Given the description of an element on the screen output the (x, y) to click on. 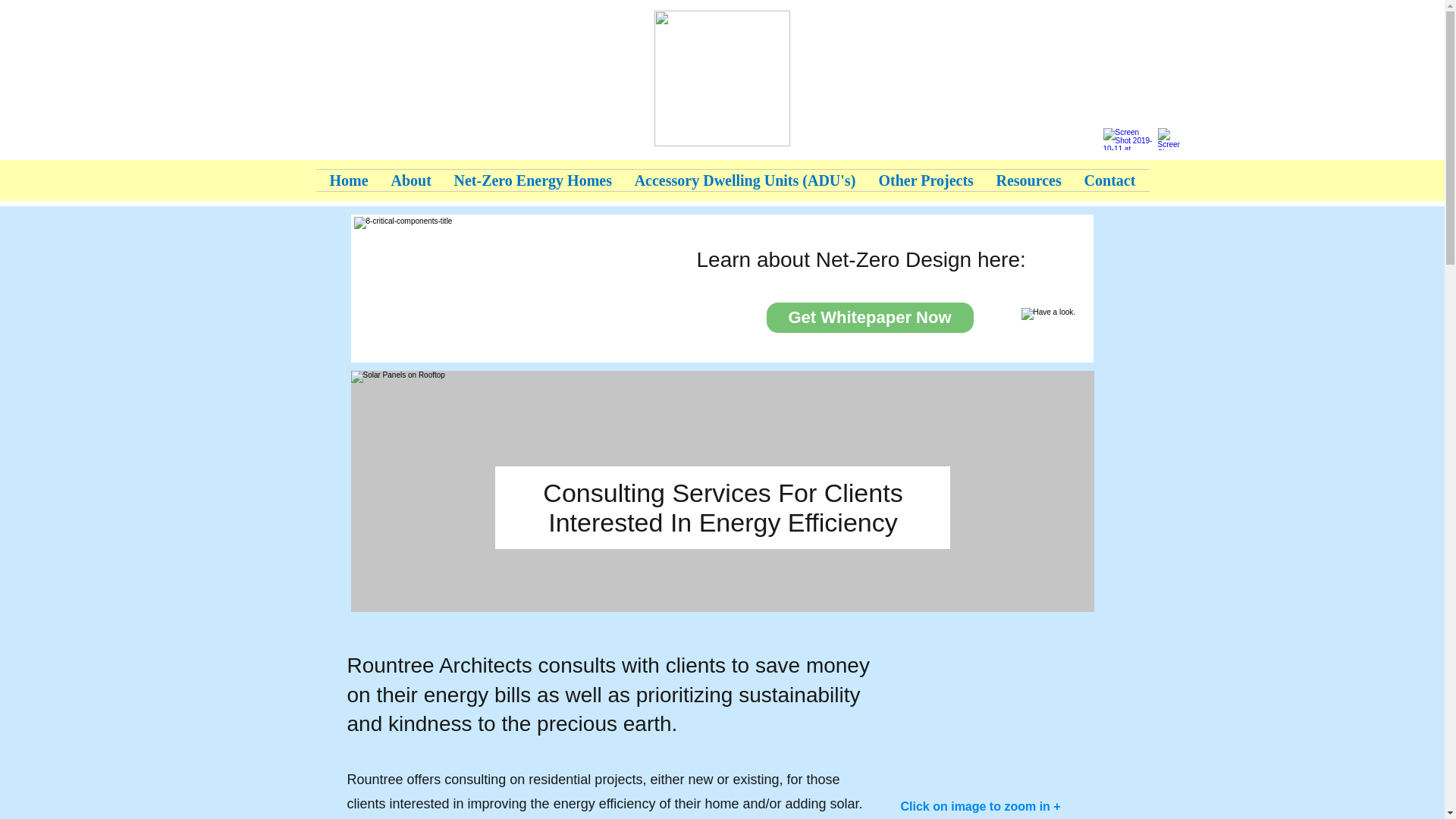
Net-Zero Energy Homes (532, 179)
Home (349, 179)
Get Whitepaper Now (868, 317)
Contact (1109, 179)
